Given the description of an element on the screen output the (x, y) to click on. 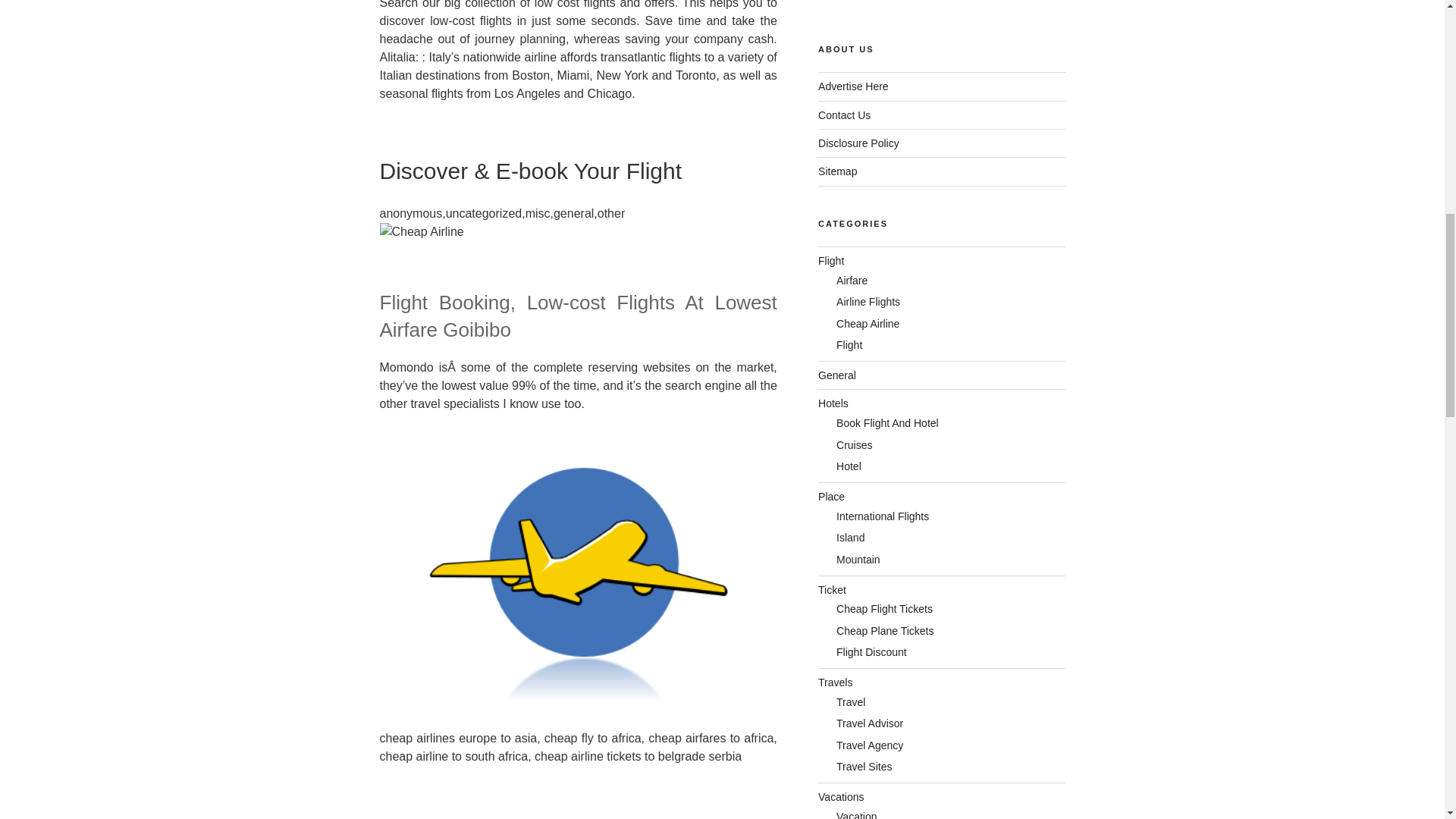
Airfare (851, 280)
Mountain (857, 559)
Travel Advisor (868, 723)
Cruises (853, 444)
Island (849, 537)
Hotels (833, 403)
Flight Discount (871, 652)
Hotel (848, 466)
Airline Flights (867, 301)
Ticket (831, 589)
